Given the description of an element on the screen output the (x, y) to click on. 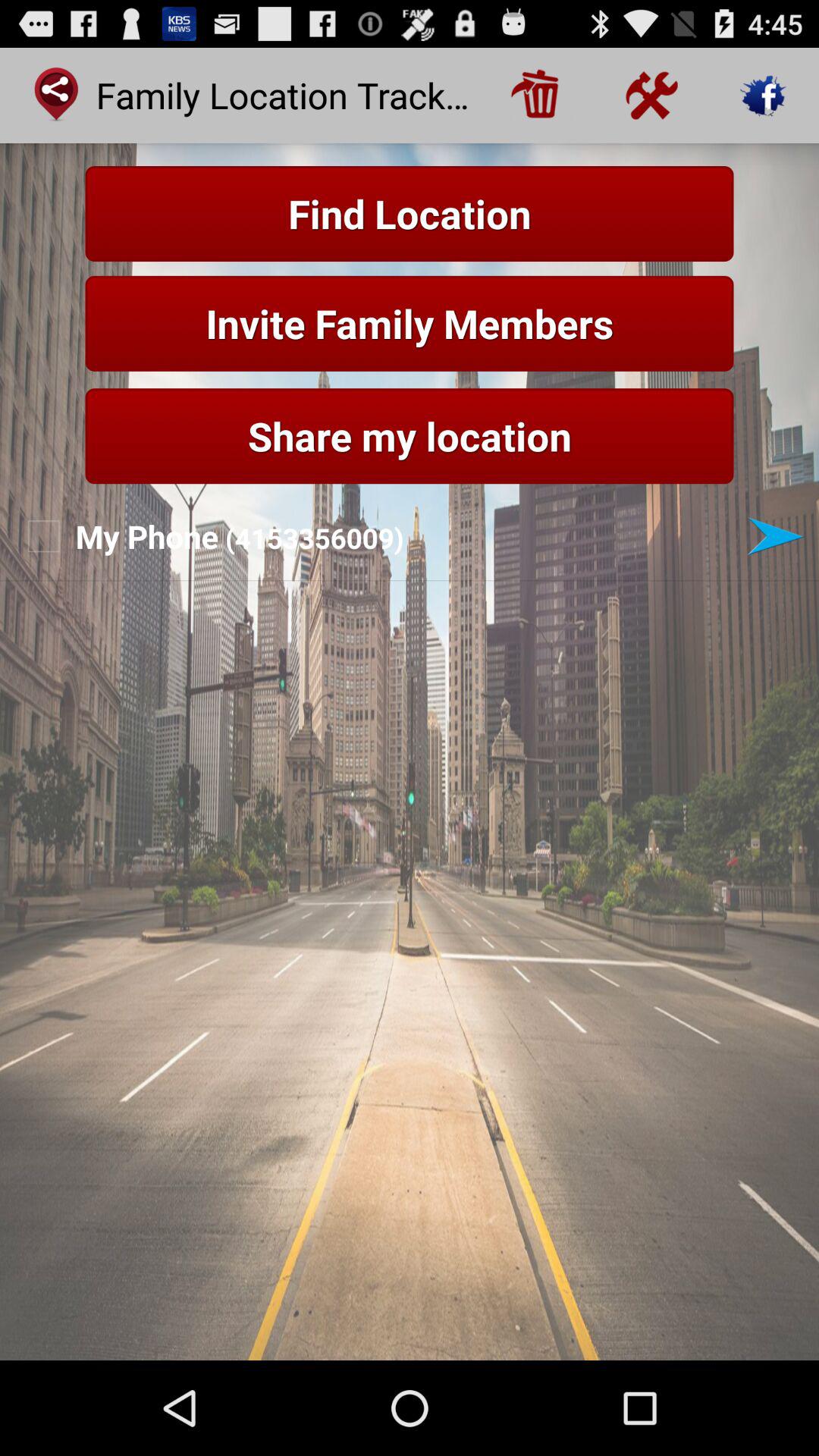
select the option (775, 536)
